Given the description of an element on the screen output the (x, y) to click on. 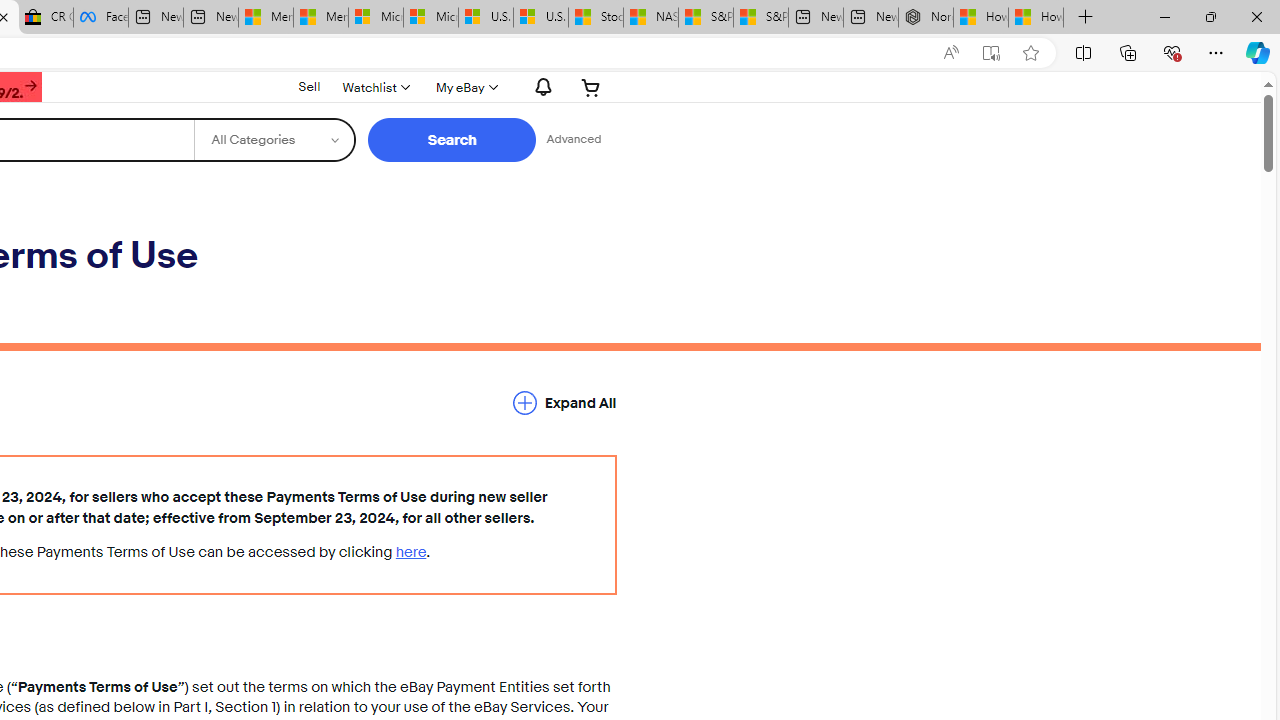
Expand Cart (591, 87)
Facebook (100, 17)
